Given the description of an element on the screen output the (x, y) to click on. 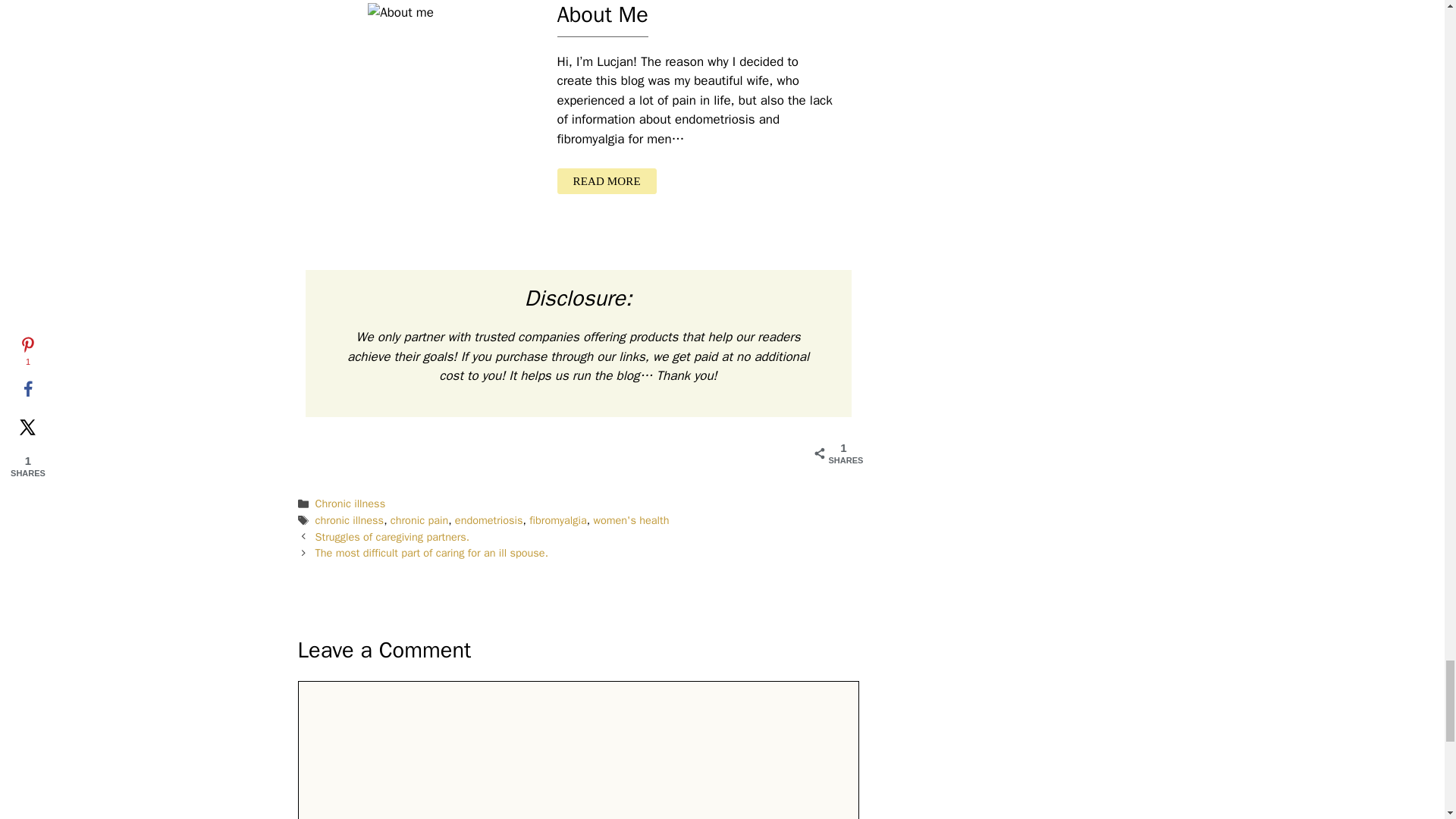
Struggles of caregiving partners. (392, 536)
The most difficult part of caring for an ill spouse. (431, 552)
women's health (630, 520)
fibromyalgia (557, 520)
READ MORE (606, 181)
chronic pain (419, 520)
endometriosis (488, 520)
Chronic illness (350, 503)
chronic illness (349, 520)
